Given the description of an element on the screen output the (x, y) to click on. 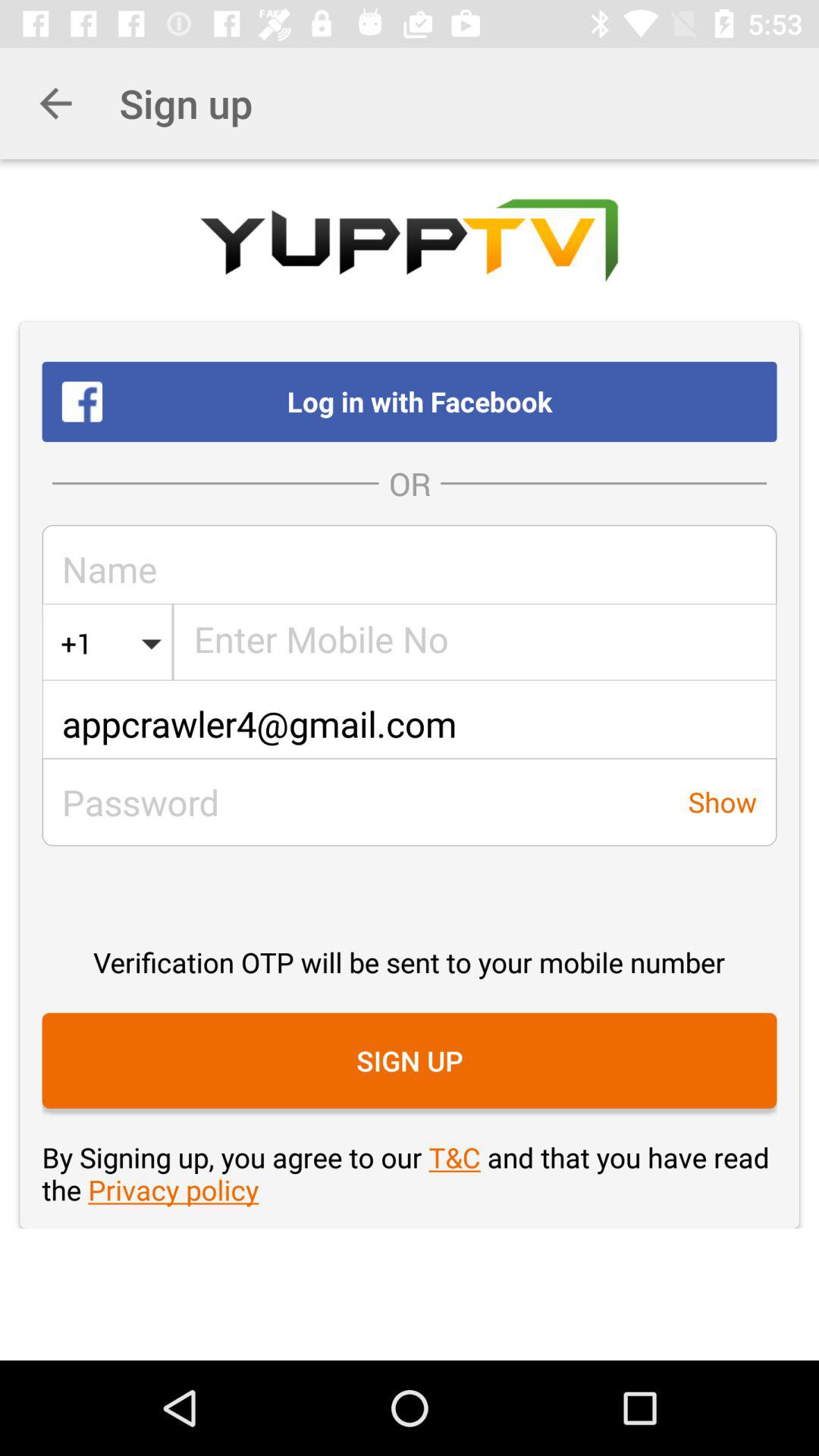
launch the app next to the sign up icon (55, 103)
